Given the description of an element on the screen output the (x, y) to click on. 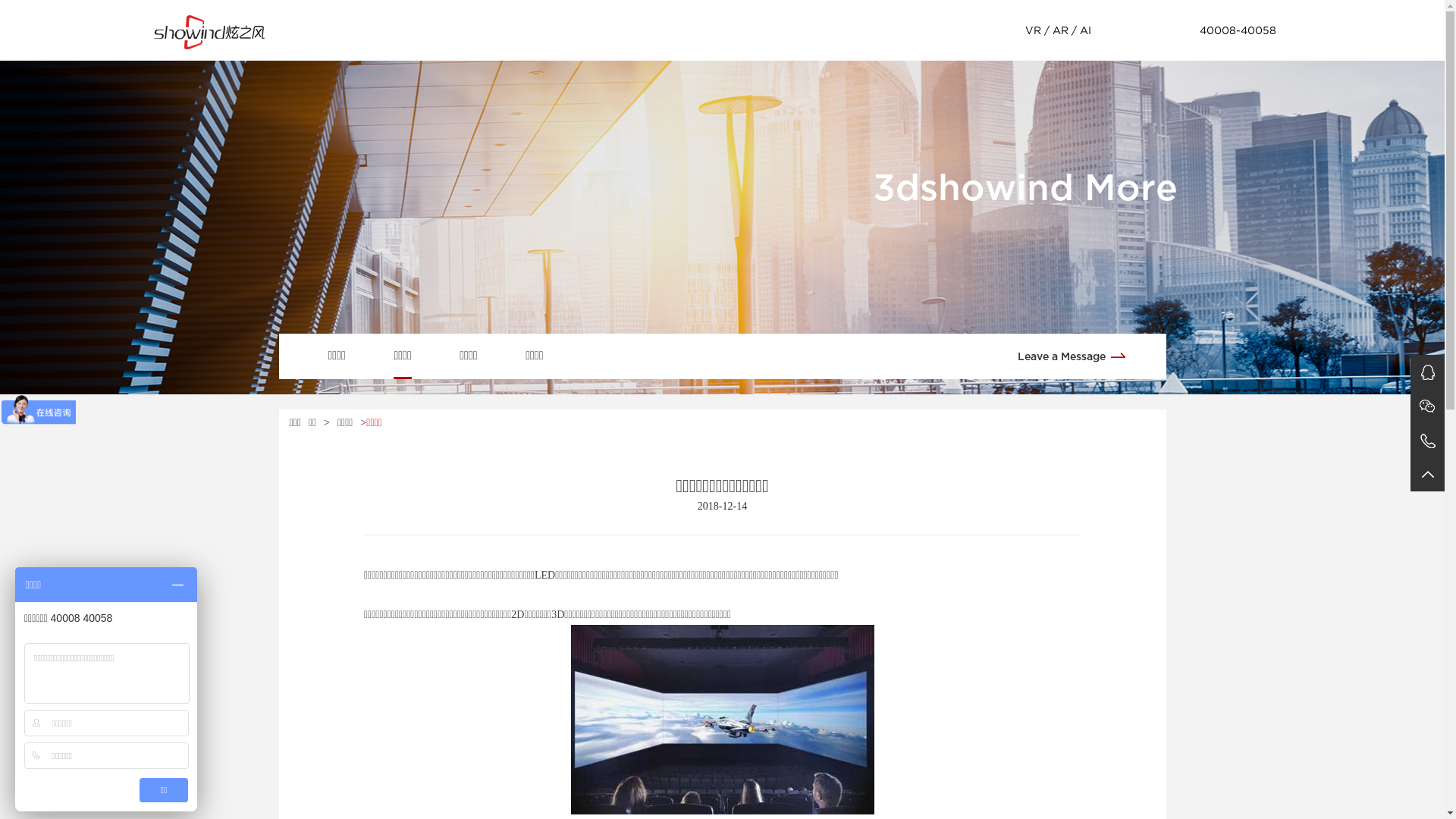
Leave a Message Element type: text (1076, 354)
VR / AR / AI Element type: text (1058, 30)
